Given the description of an element on the screen output the (x, y) to click on. 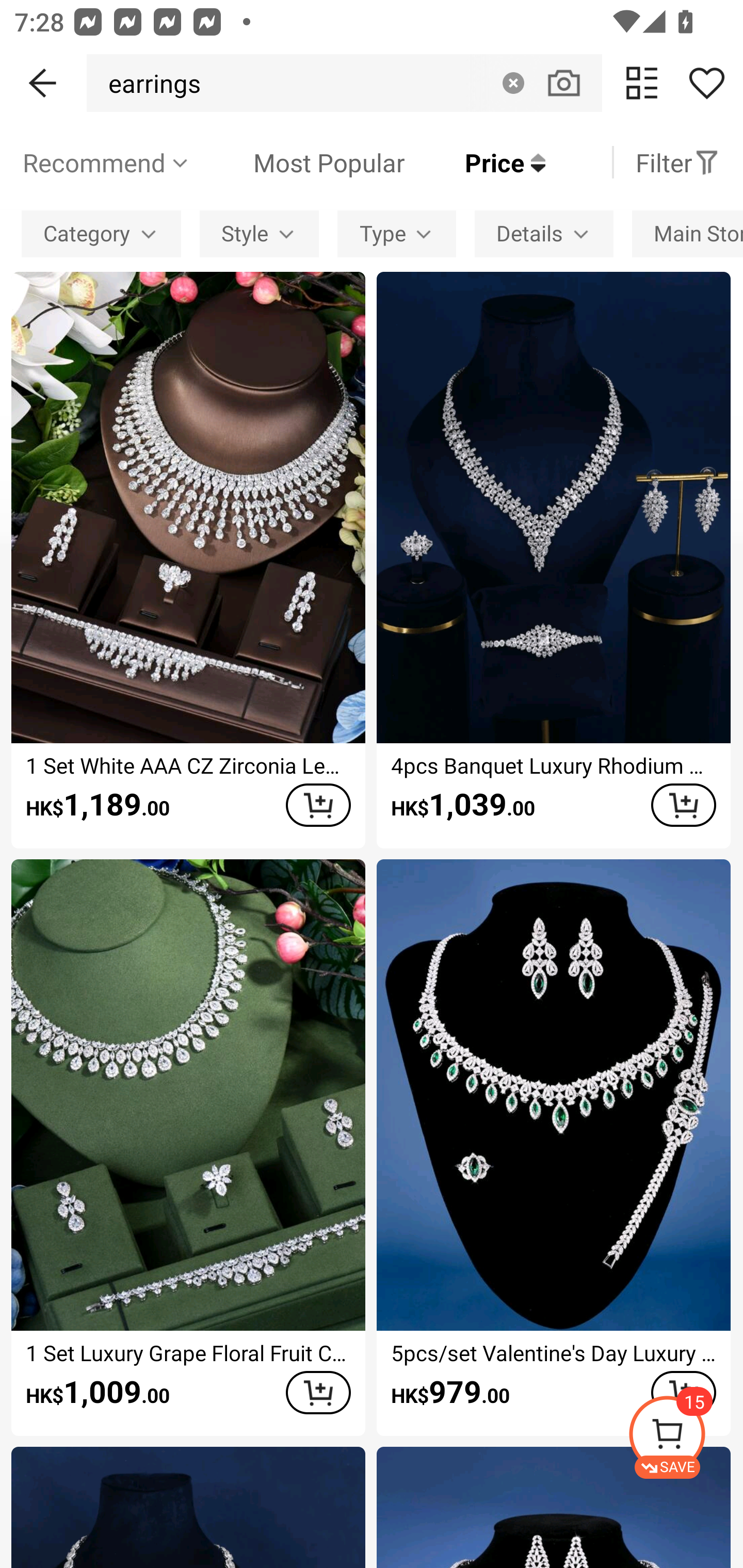
earrings Clear (343, 82)
earrings (148, 82)
Clear (513, 82)
change view (641, 82)
Share (706, 82)
Recommend (106, 162)
Most Popular (297, 162)
Price (474, 162)
Filter (677, 162)
Category (101, 233)
Style (258, 233)
Type (396, 233)
Details (543, 233)
Main Stone (687, 233)
ADD TO CART (318, 805)
ADD TO CART (683, 805)
ADD TO CART (318, 1392)
SAVE (685, 1436)
